Given the description of an element on the screen output the (x, y) to click on. 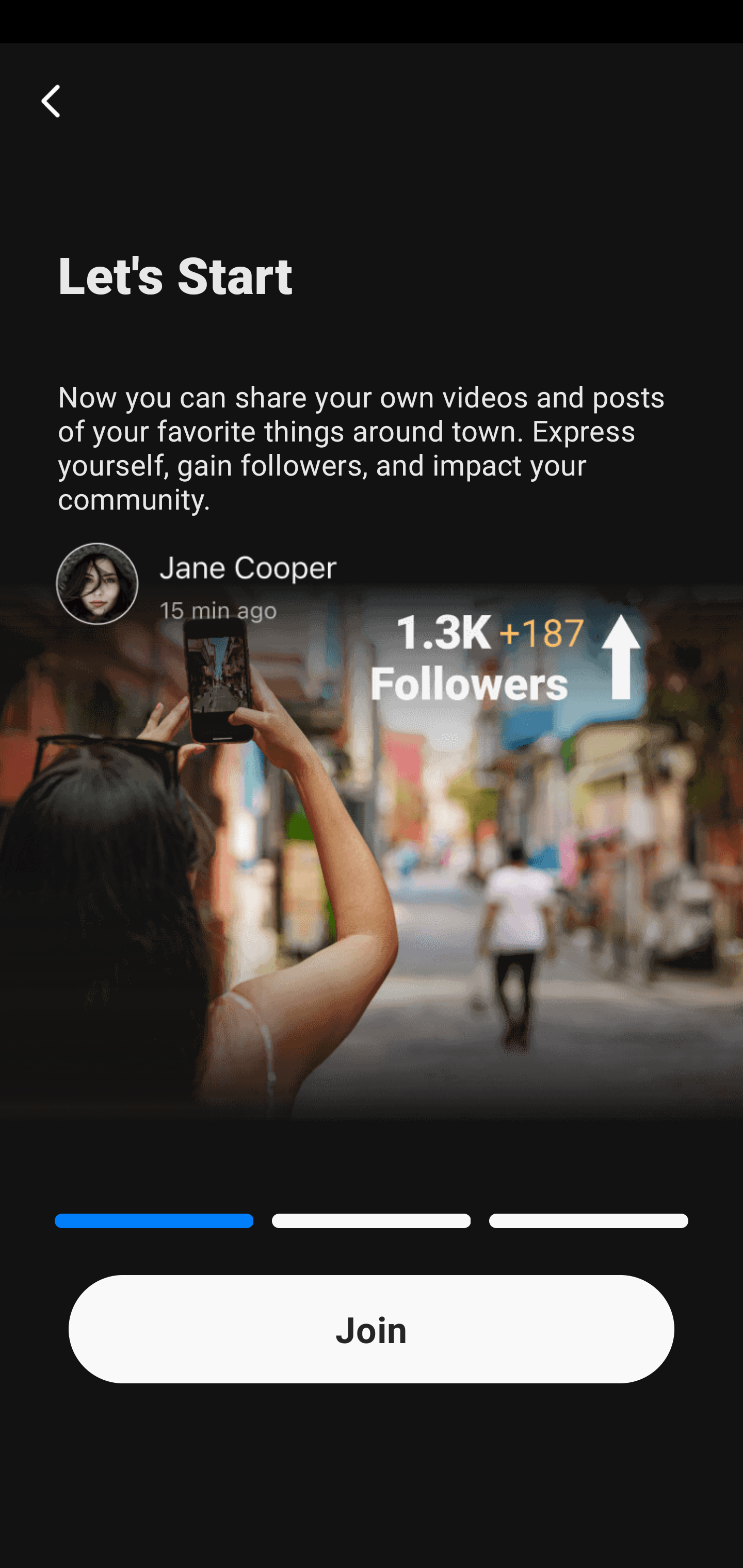
Join (371, 1328)
